Given the description of an element on the screen output the (x, y) to click on. 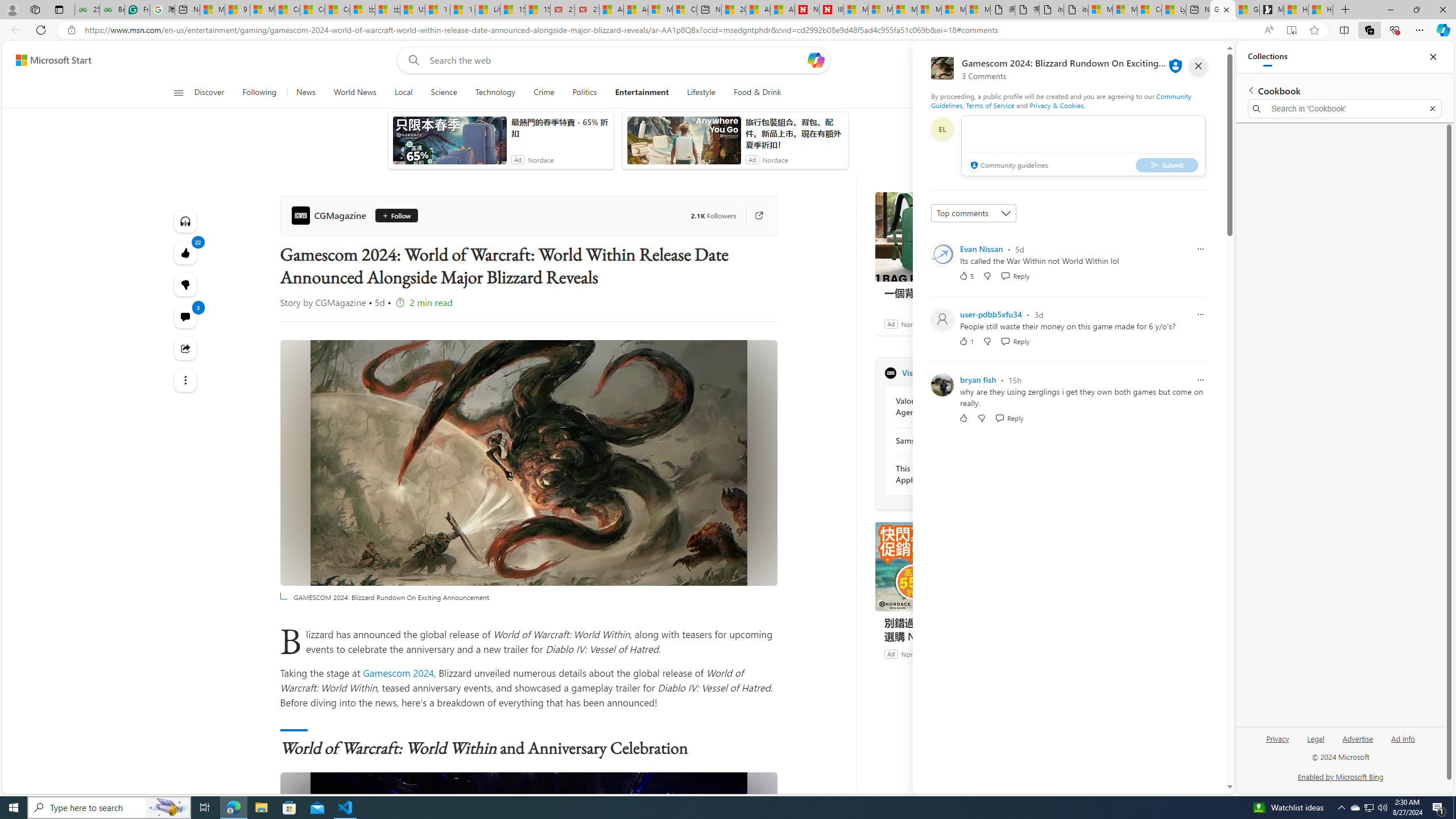
Samsung Galaxy Watch 7 Review (957, 440)
Community Guidelines (1060, 100)
15 Ways Modern Life Contradicts the Teachings of Jesus (536, 9)
Microsoft Services Agreement (879, 9)
Legal (1315, 738)
Ad info (1402, 742)
22 (184, 284)
Reply Reply Comment (1008, 418)
Share this story (184, 348)
Crime (543, 92)
